Given the description of an element on the screen output the (x, y) to click on. 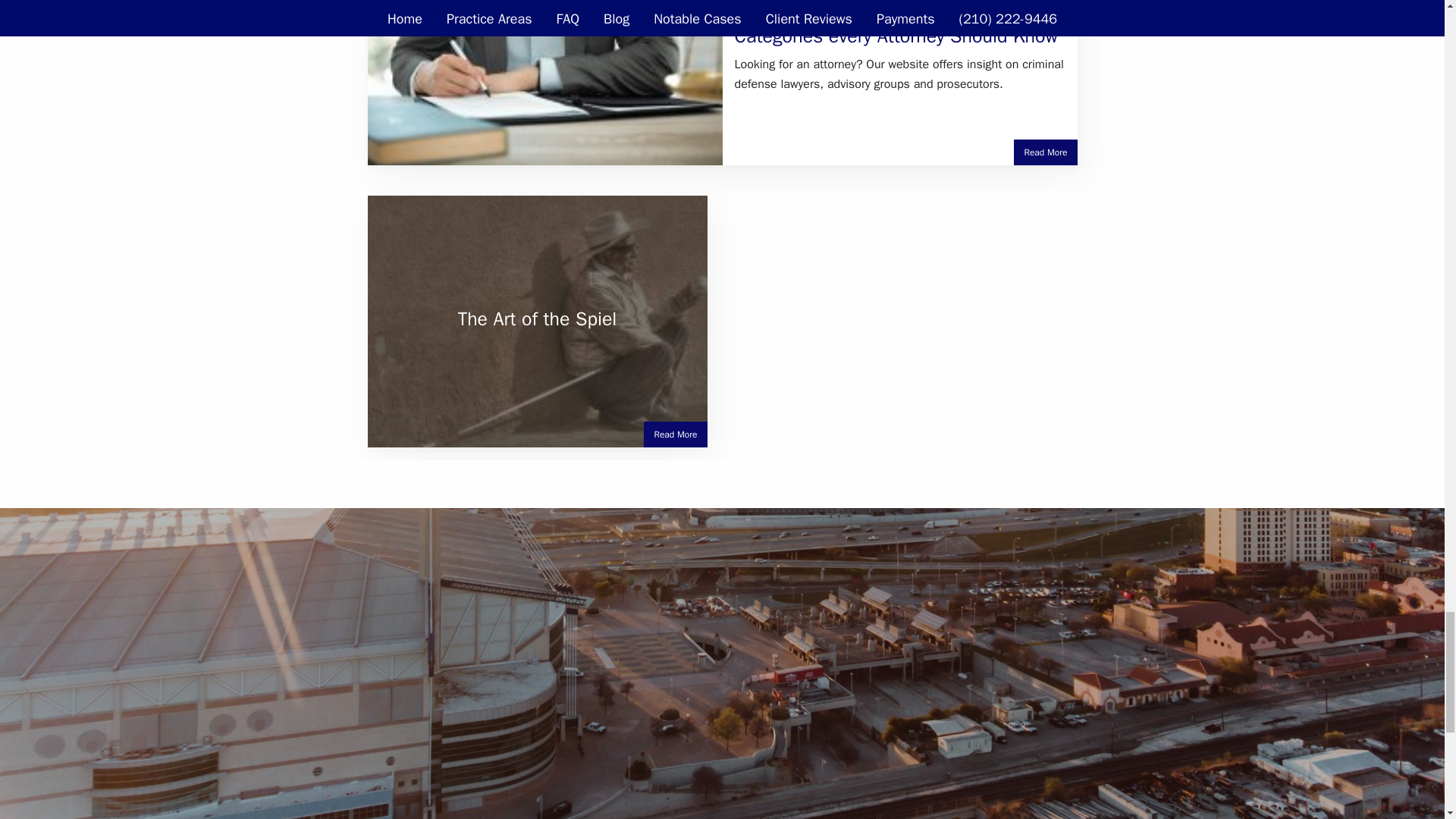
Read more about  The Art of the Spiel (674, 434)
Read More (1045, 152)
Read More (674, 434)
